Given the description of an element on the screen output the (x, y) to click on. 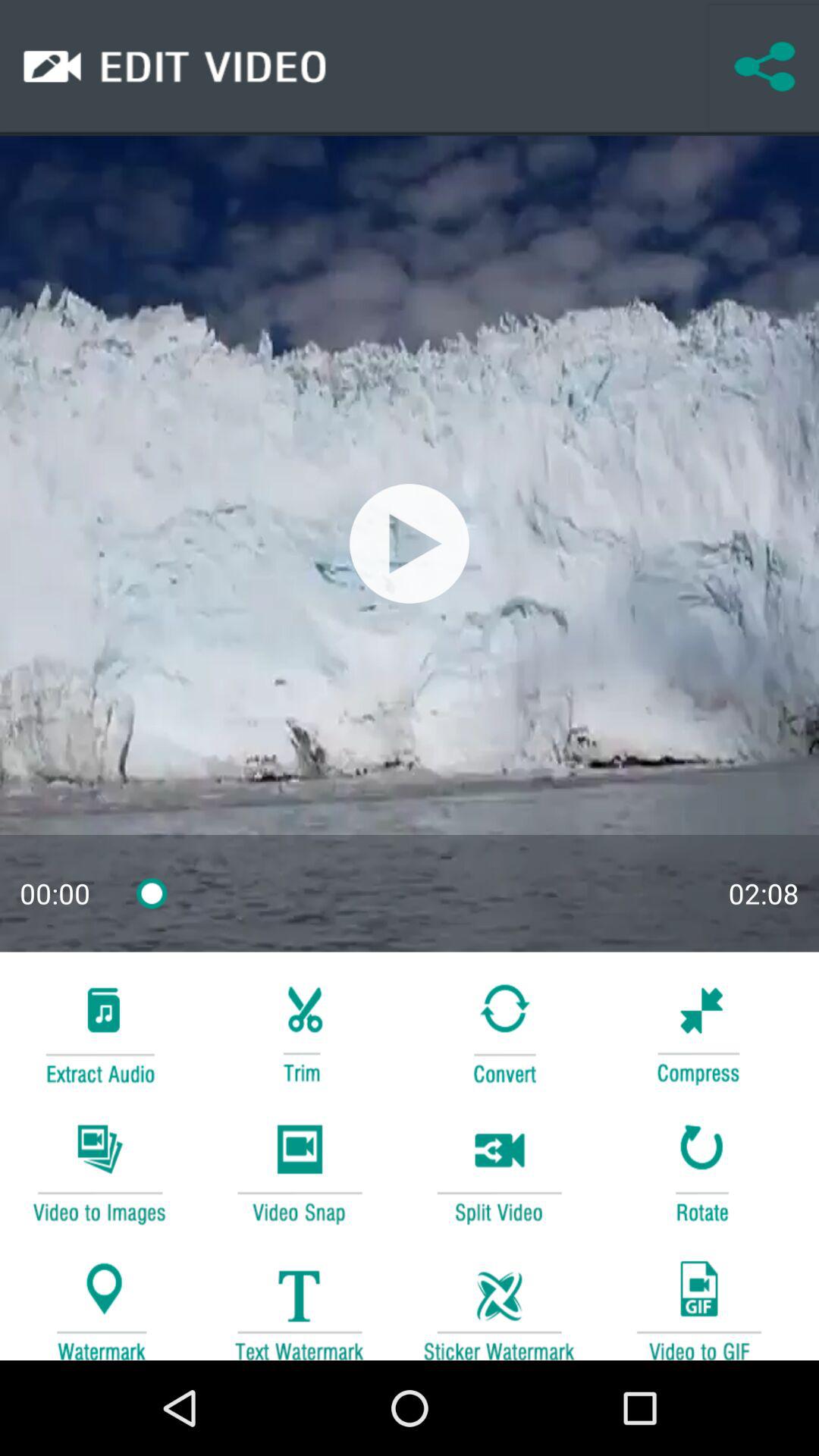
text the words (299, 1303)
